Given the description of an element on the screen output the (x, y) to click on. 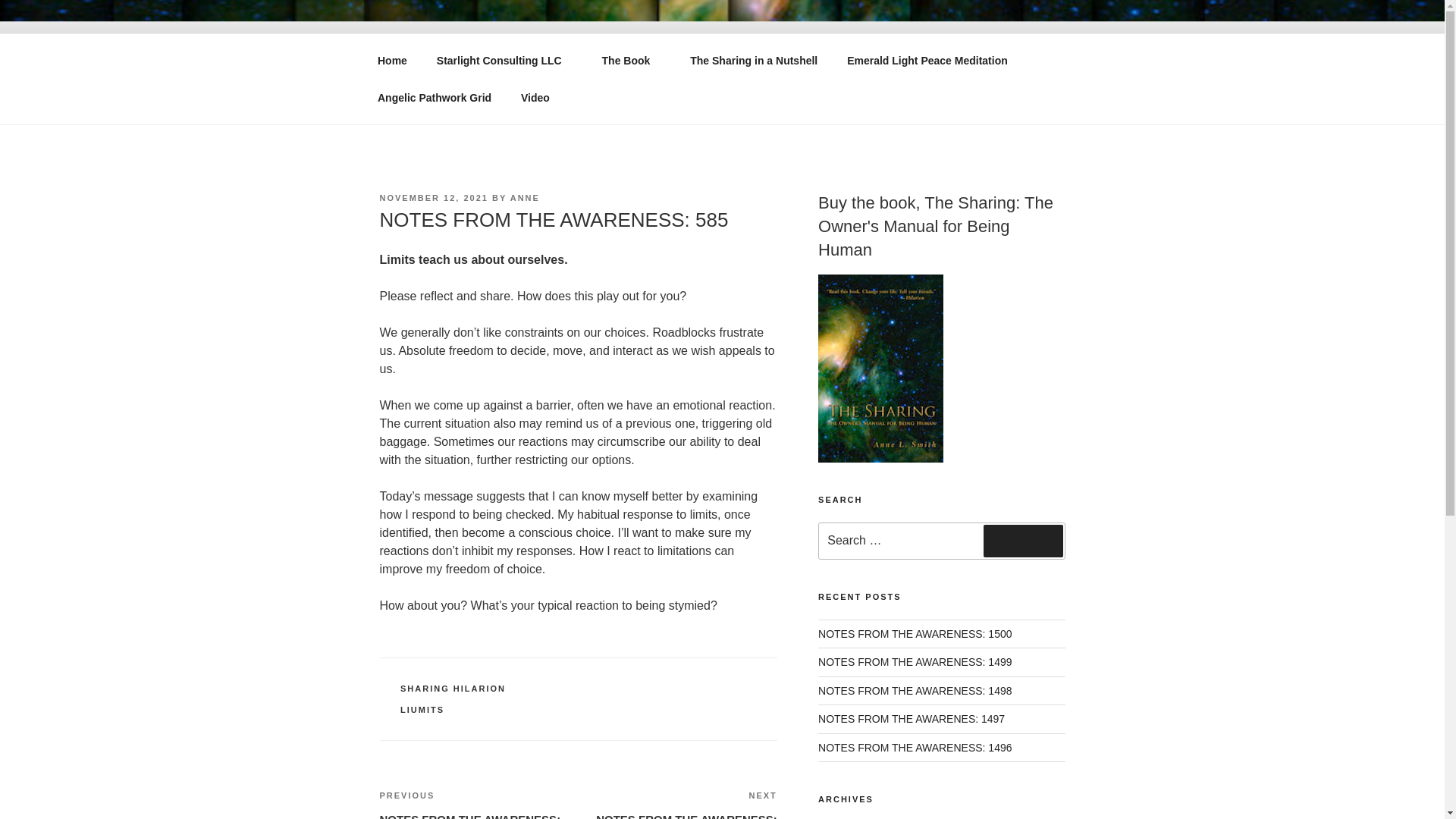
SHARING HILARION (452, 687)
NOTES FROM THE AWARENESS: 1500 (914, 633)
NOTES FROM THE AWARENESS: 1498 (914, 690)
Starlight Consulting LLC (504, 60)
Search (1023, 540)
Home (392, 60)
NOTES FROM THE AWARENESS: 1496 (914, 747)
LIUMITS (422, 709)
Video (535, 97)
NOTES FROM THE AWARENES: 1497 (478, 804)
The Book (911, 718)
The Sharing in a Nutshell (631, 60)
STARLIGHT CONSULTING LLC (754, 60)
Emerald Light Peace Meditation (605, 52)
